Given the description of an element on the screen output the (x, y) to click on. 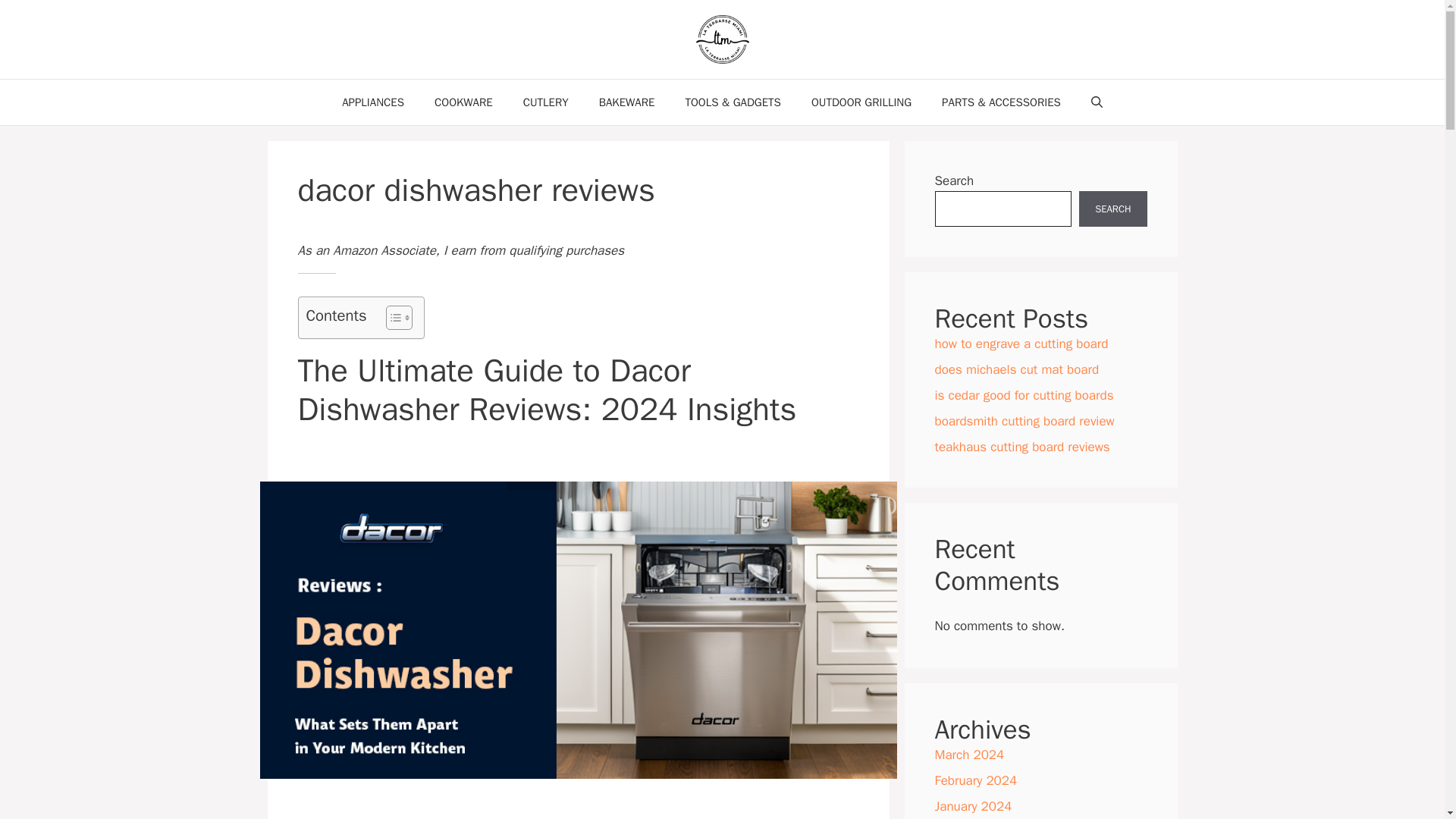
CUTLERY (545, 102)
COOKWARE (463, 102)
APPLIANCES (372, 102)
OUTDOOR GRILLING (861, 102)
BAKEWARE (626, 102)
